Given the description of an element on the screen output the (x, y) to click on. 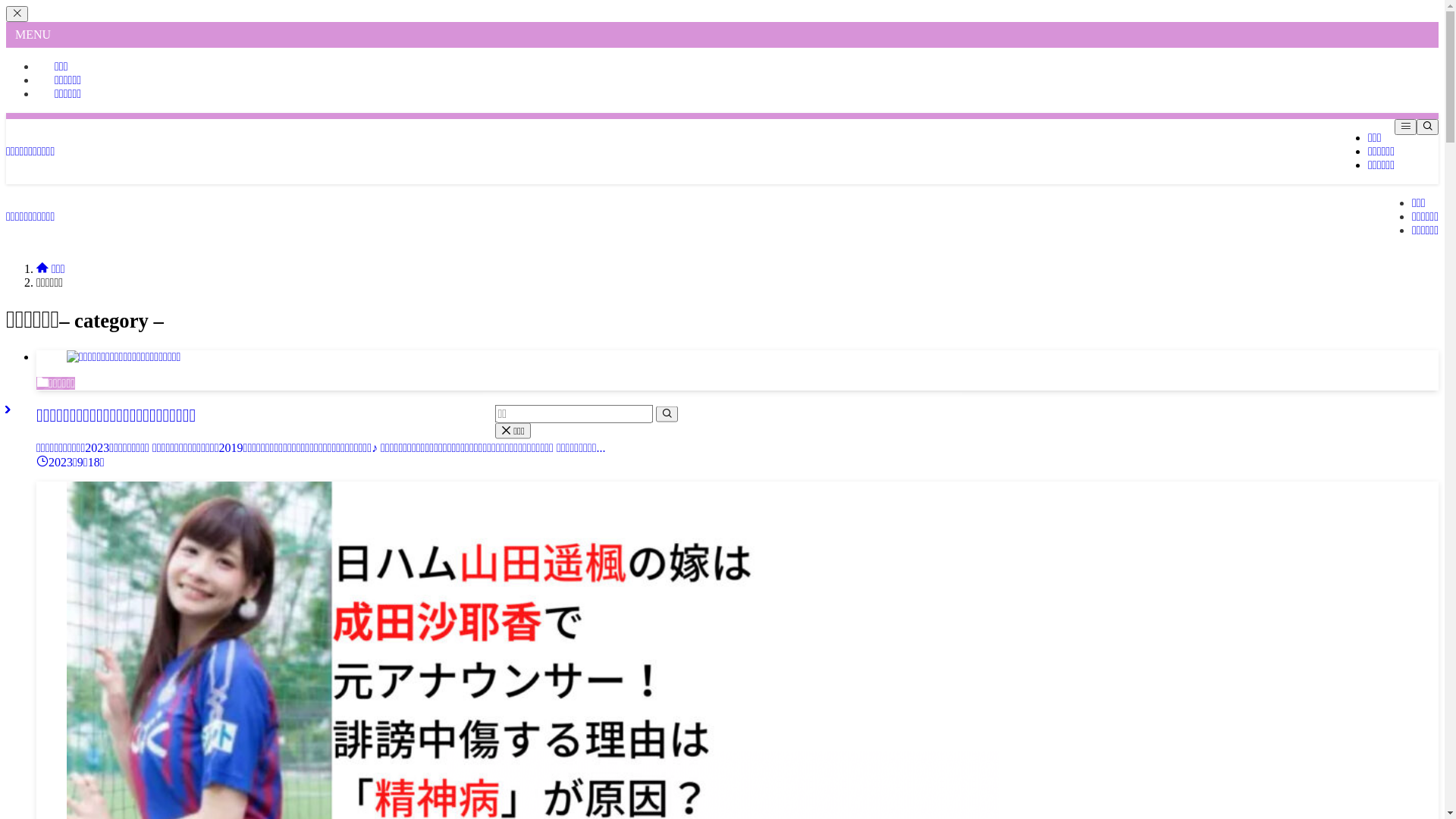
search Element type: text (666, 414)
